Given the description of an element on the screen output the (x, y) to click on. 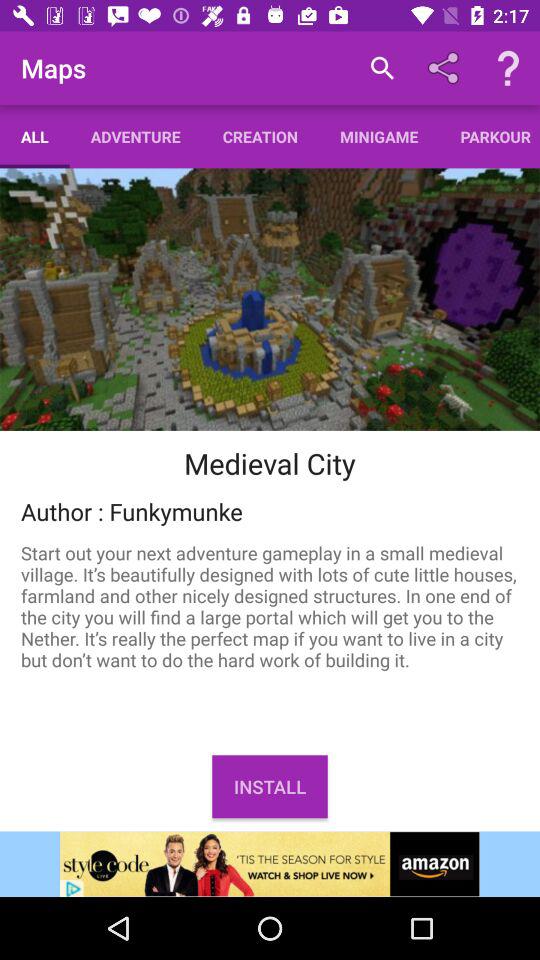
accesss help (508, 67)
